Given the description of an element on the screen output the (x, y) to click on. 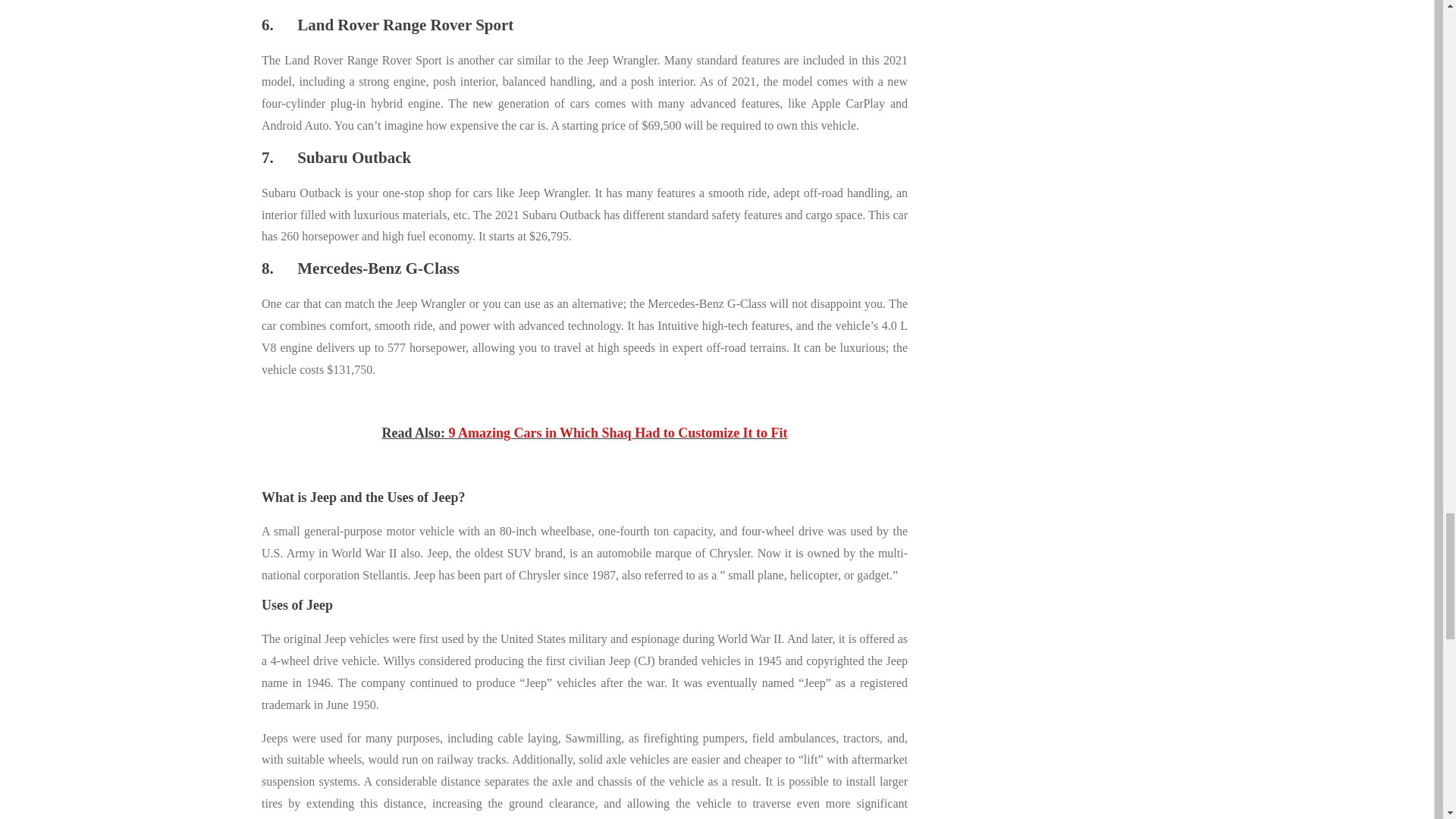
9 Amazing Cars in Which Shaq Had to Customize It to Fit (617, 432)
